Given the description of an element on the screen output the (x, y) to click on. 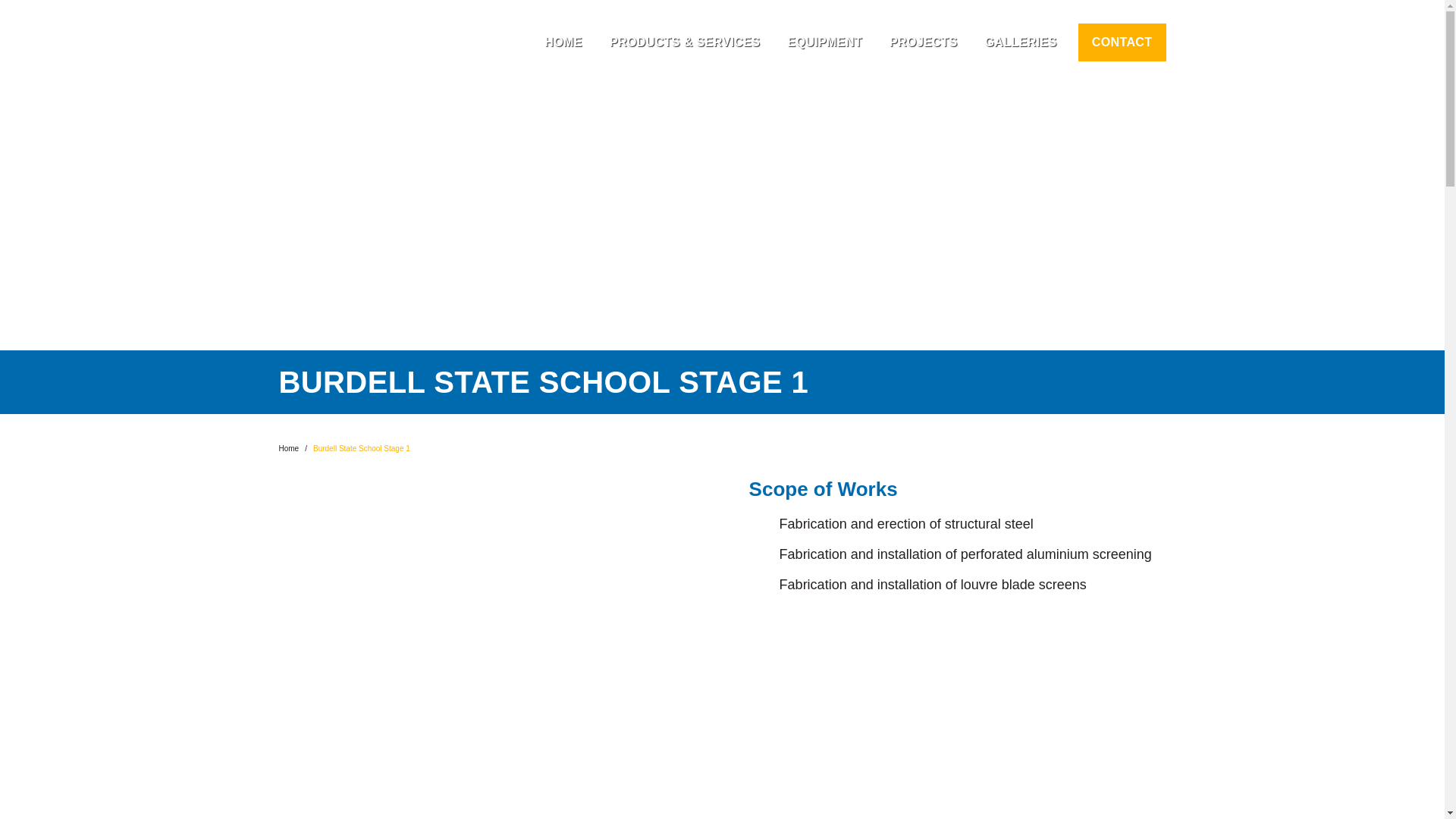
PROJECTS Element type: text (922, 42)
HOME Element type: text (563, 42)
EQUIPMENT Element type: text (824, 42)
Home Element type: text (289, 448)
CONTACT Element type: text (1122, 42)
PRODUCTS & SERVICES Element type: text (684, 42)
GALLERIES Element type: text (1020, 42)
